Given the description of an element on the screen output the (x, y) to click on. 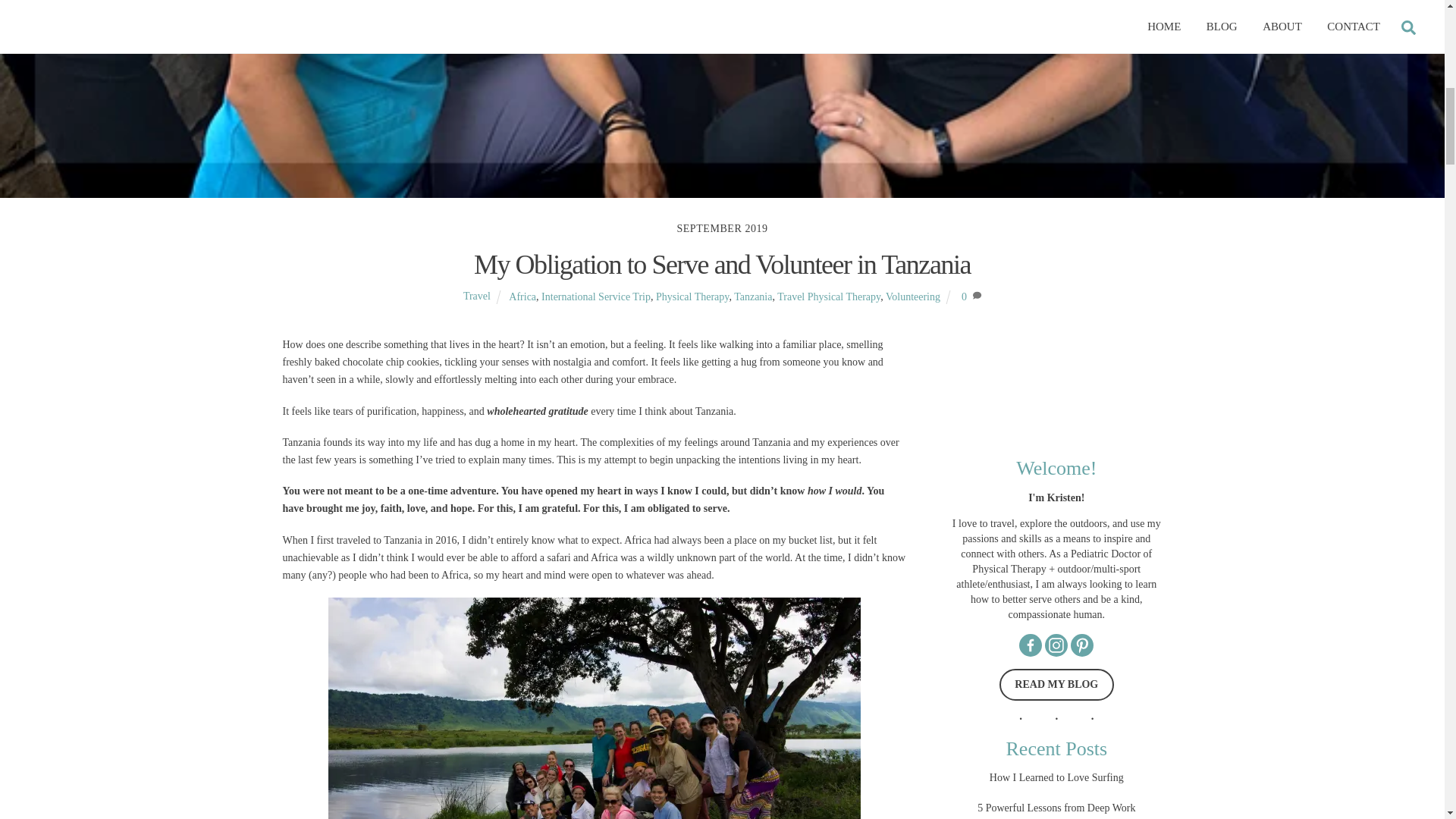
Volunteering (912, 296)
Instagram (1056, 644)
Facebook (1030, 644)
Pinterest (1081, 644)
Africa (521, 296)
Travel Physical Therapy (828, 296)
International Service Trip (595, 296)
Tanzania (752, 296)
Travel (476, 296)
Physical Therapy (692, 296)
